Given the description of an element on the screen output the (x, y) to click on. 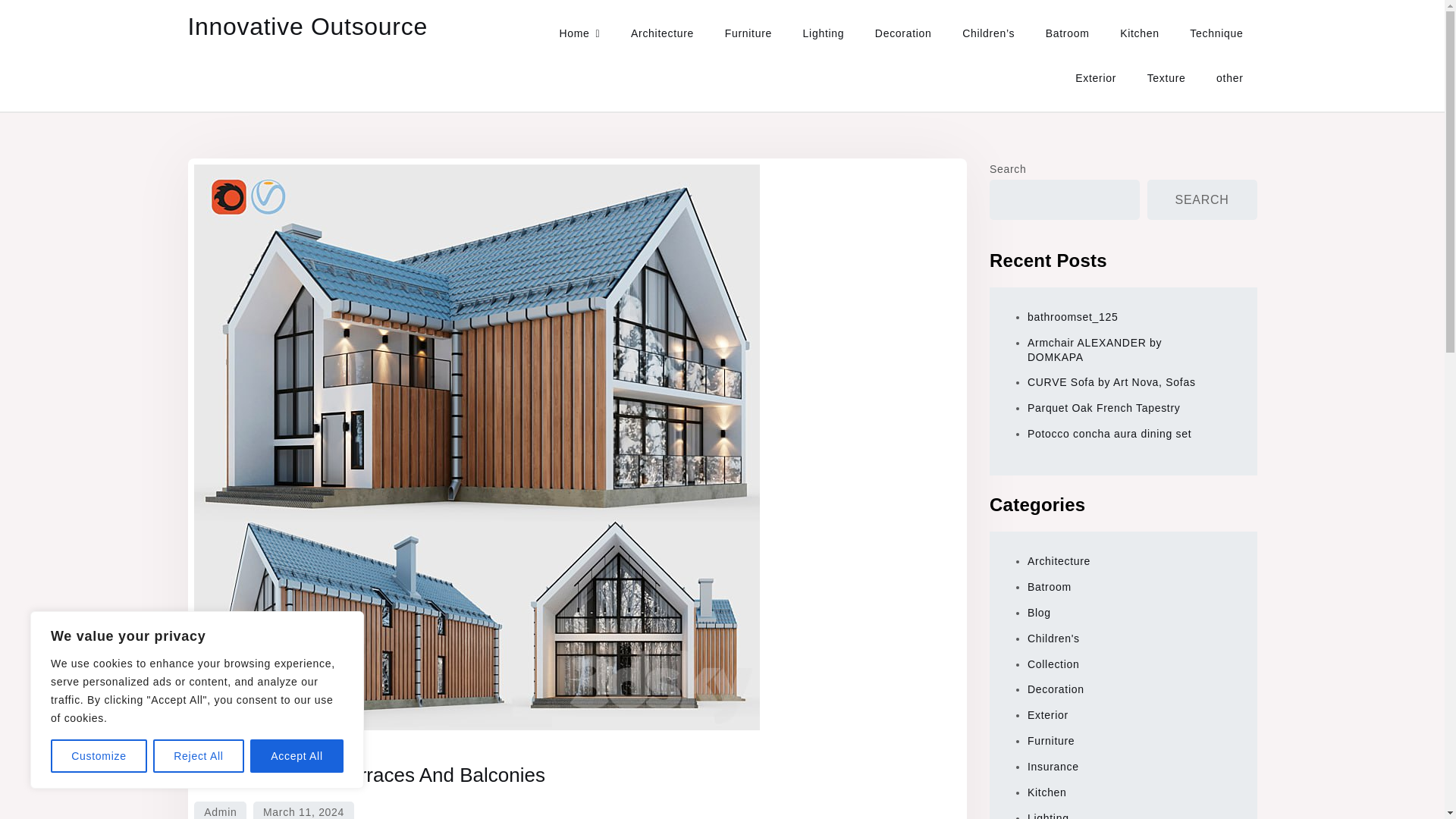
Reject All (198, 756)
Home (578, 33)
Furniture (748, 33)
Admin (219, 810)
Accept All (296, 756)
Decoration (902, 33)
Lighting (824, 33)
Kitchen (1139, 33)
Technique (1216, 33)
Architecture (662, 33)
March 11, 2024 (303, 810)
Architecture (221, 747)
other (1229, 77)
Innovative Outsource (307, 26)
Exterior (1095, 77)
